Given the description of an element on the screen output the (x, y) to click on. 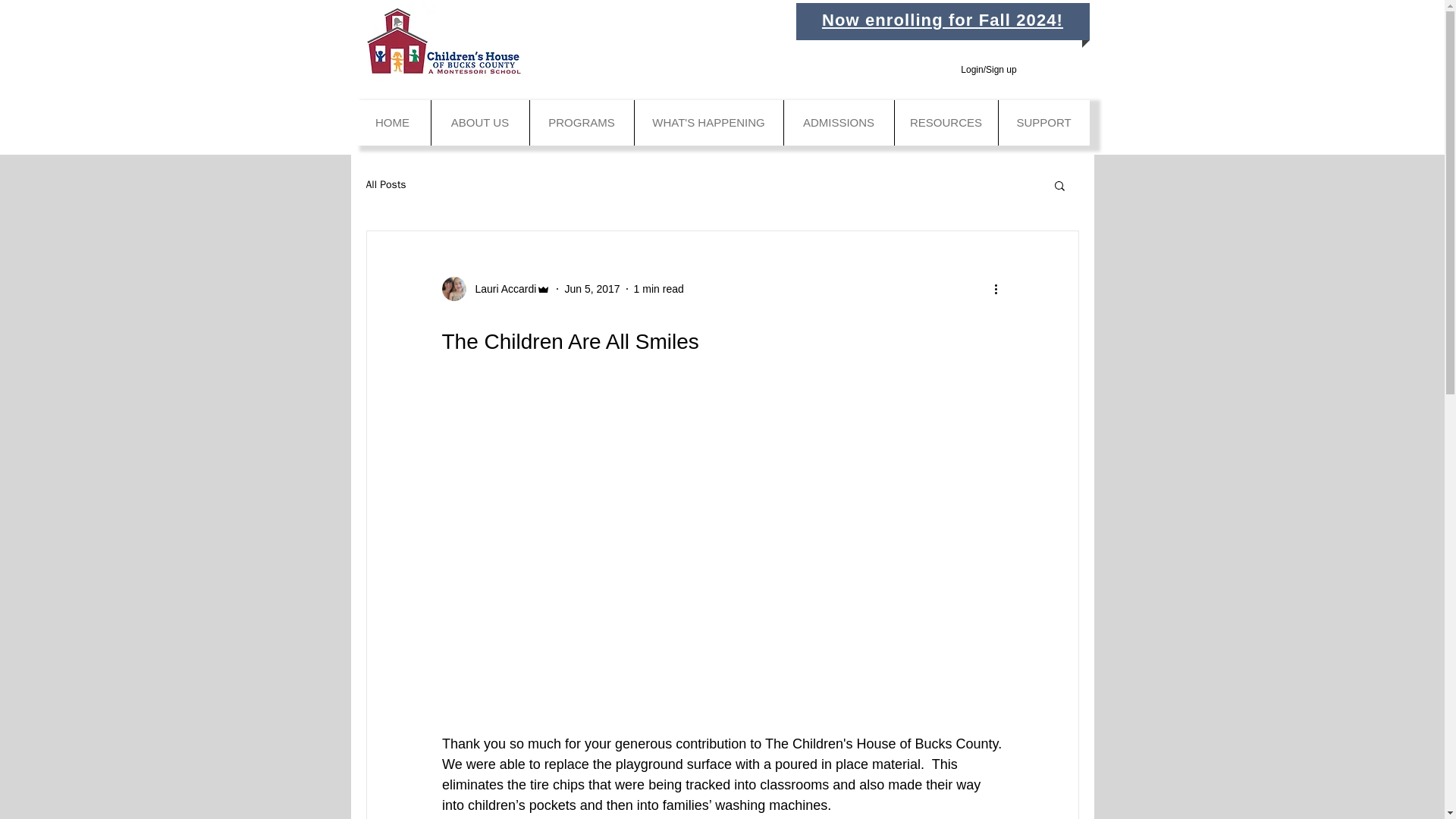
HOME (392, 122)
1 min read (658, 287)
All Posts (385, 184)
Lauri Accardi (500, 288)
Now enrolling for Fall 2024! (942, 19)
Jun 5, 2017 (592, 287)
Lauri Accardi (495, 288)
